Given the description of an element on the screen output the (x, y) to click on. 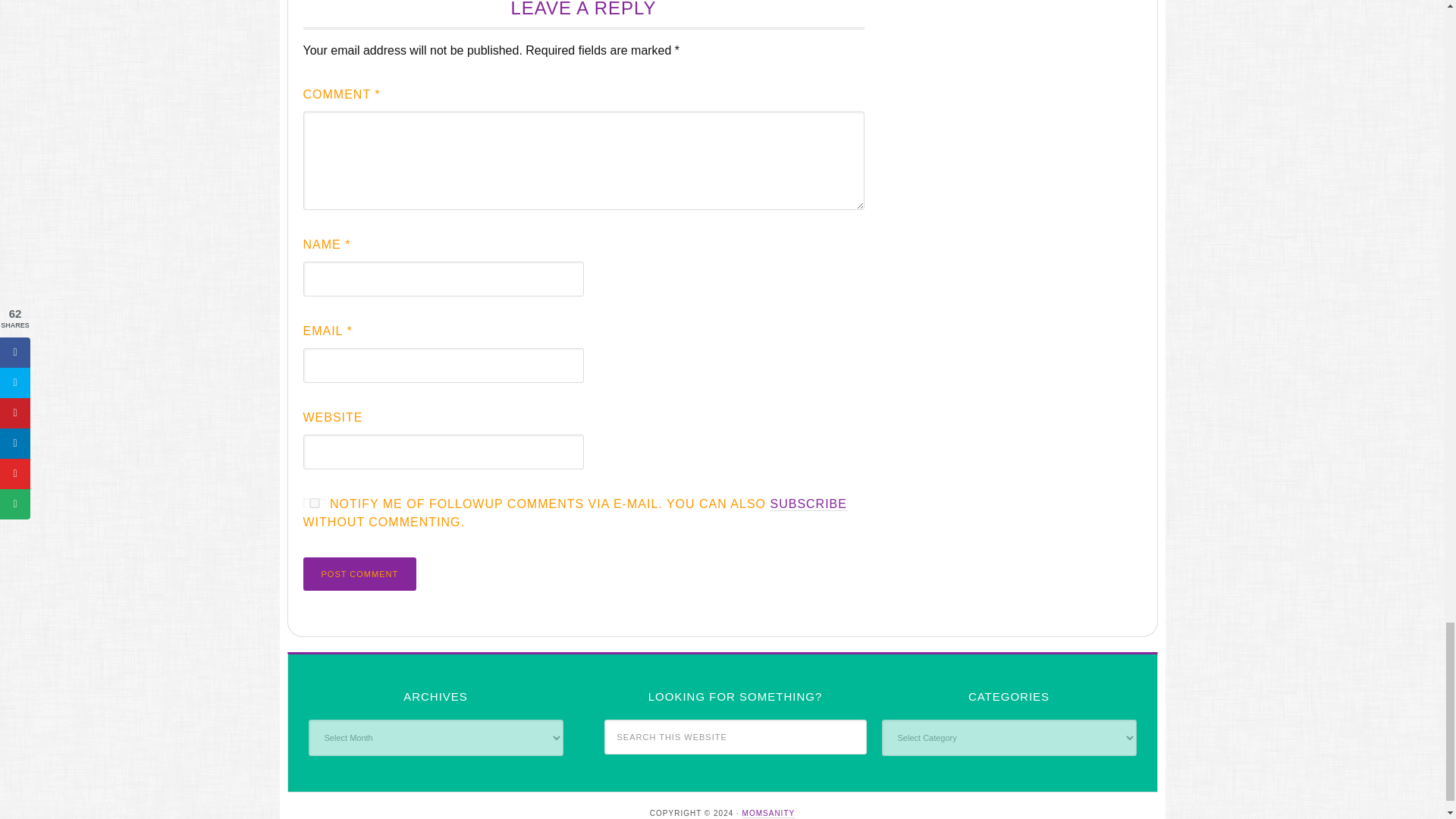
SUBSCRIBE (807, 504)
Post Comment (359, 573)
yes (314, 502)
Post Comment (359, 573)
